Given the description of an element on the screen output the (x, y) to click on. 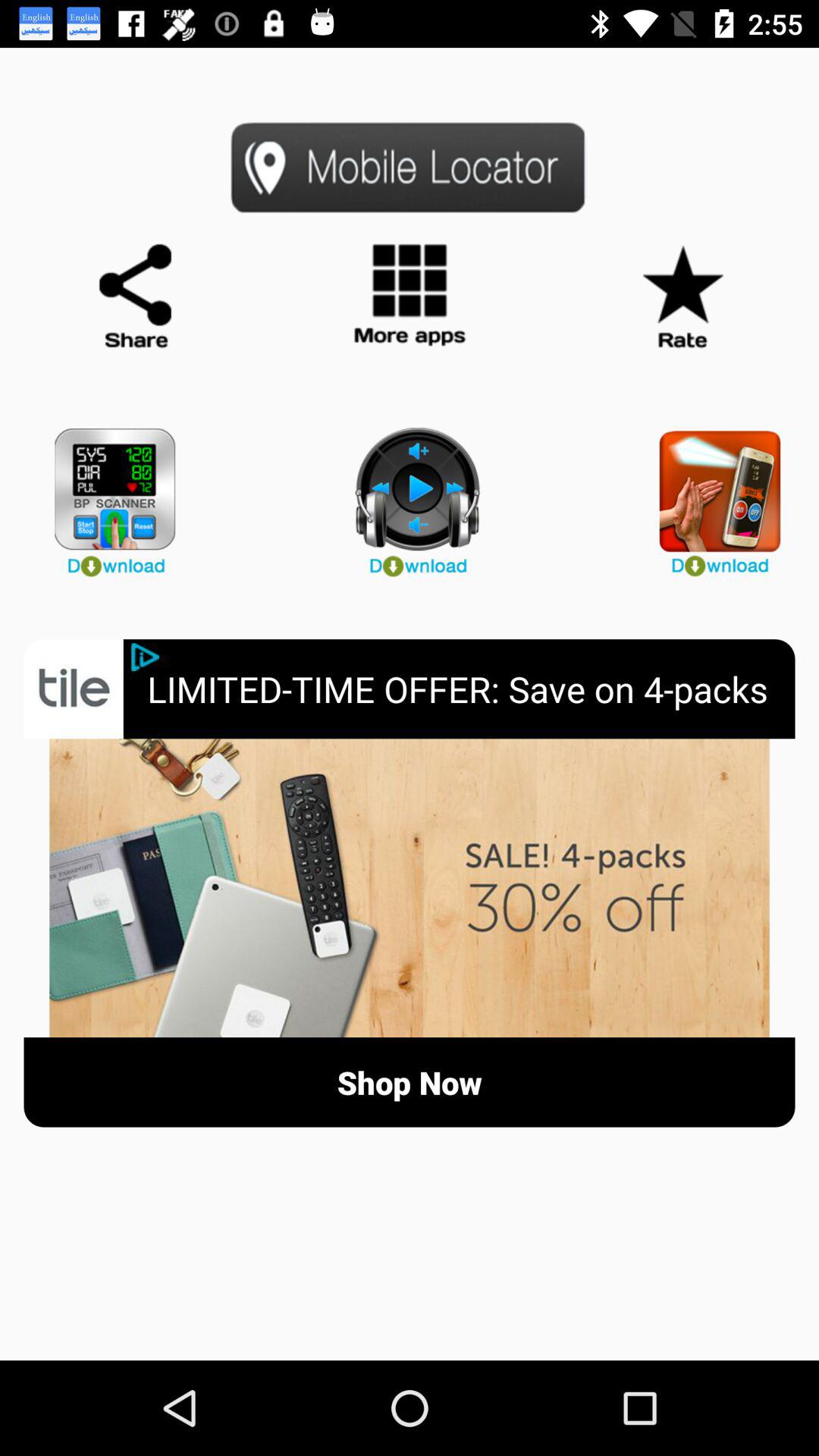
downloads (409, 495)
